Given the description of an element on the screen output the (x, y) to click on. 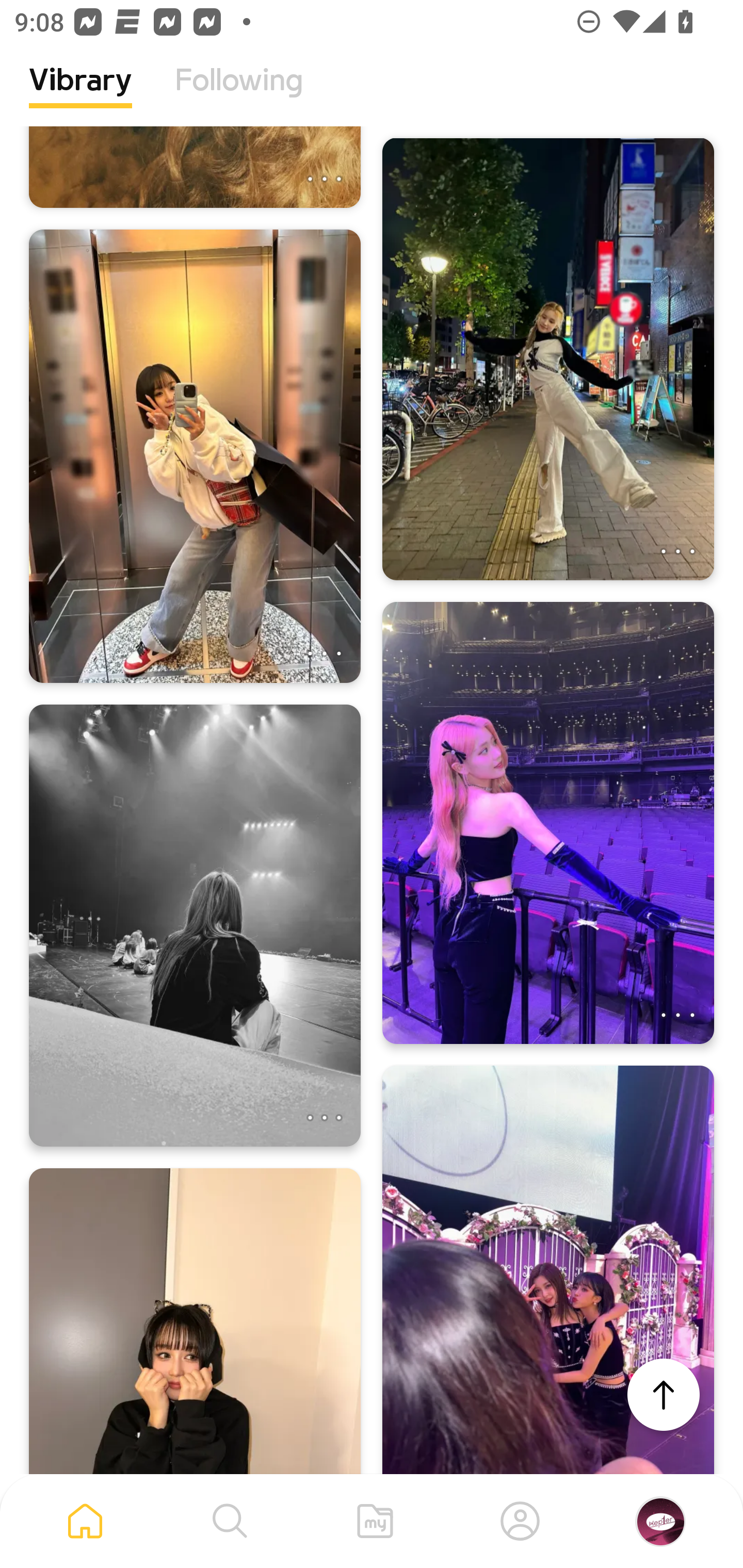
Vibrary (80, 95)
Following (239, 95)
